Given the description of an element on the screen output the (x, y) to click on. 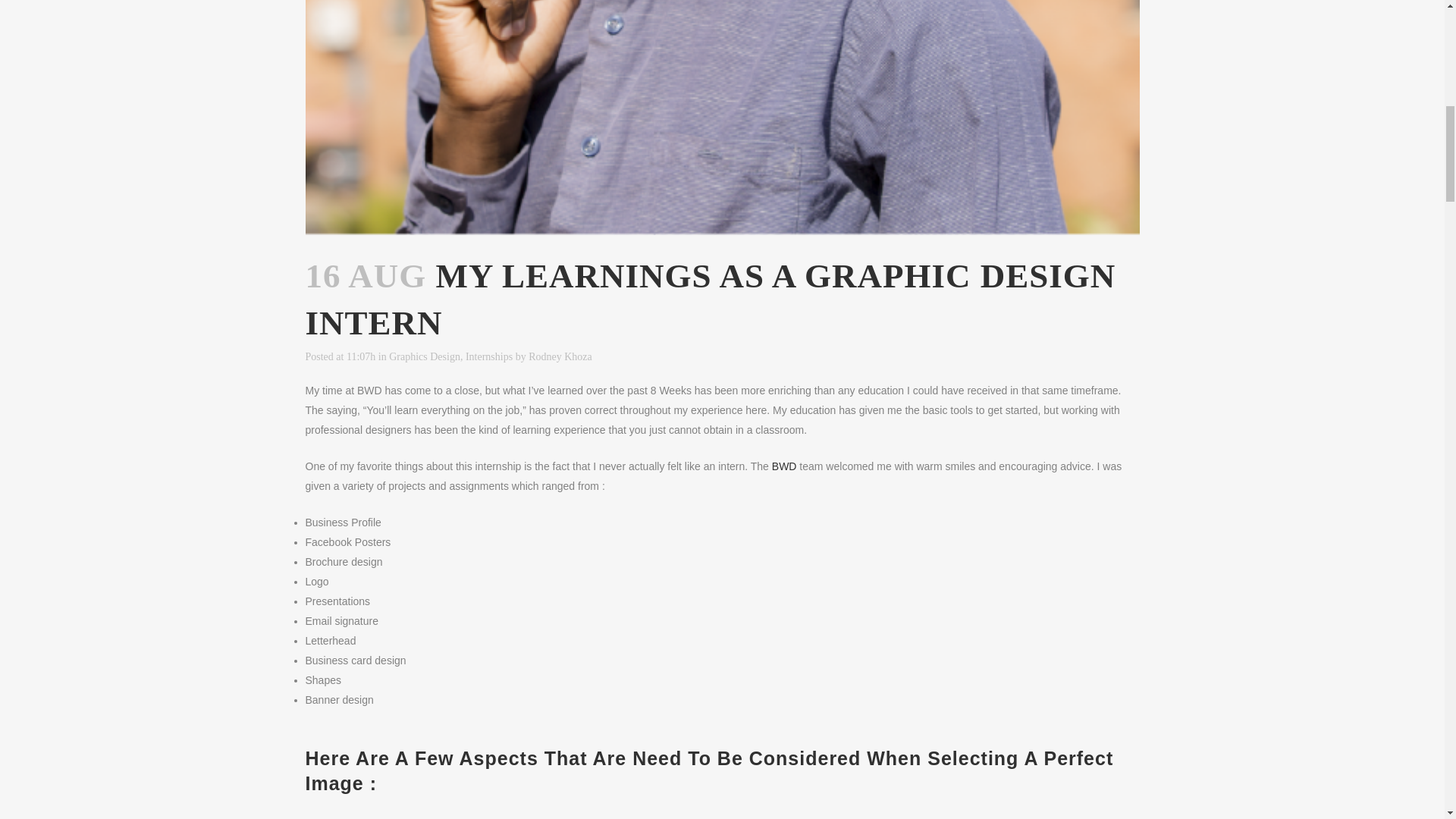
Internships (488, 356)
BWD (783, 466)
Graphics Design (424, 356)
Rodney Khoza (560, 356)
